Given the description of an element on the screen output the (x, y) to click on. 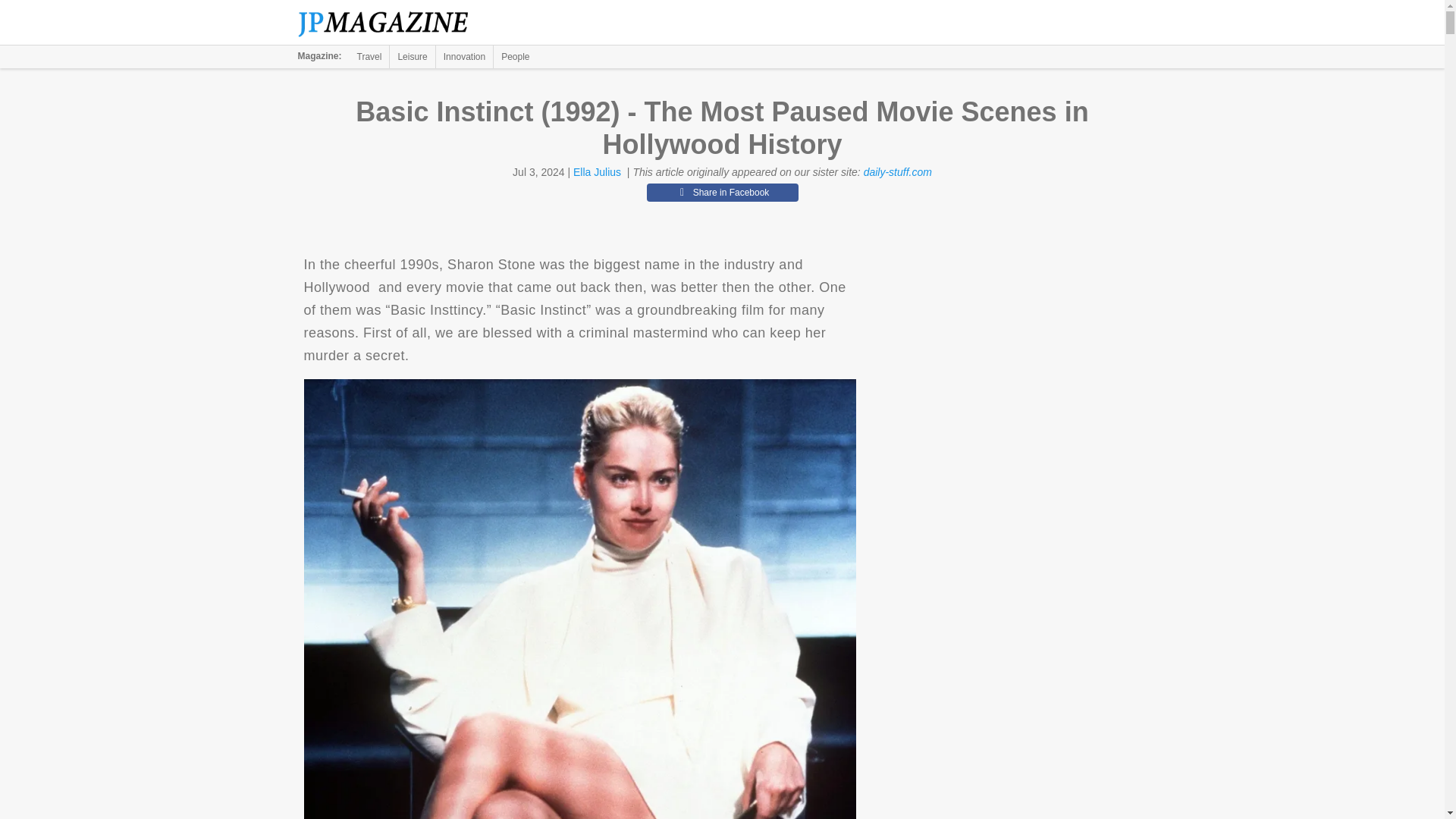
Innovation (464, 56)
Ella Julius (597, 172)
People (515, 56)
Leisure (411, 56)
Share in Facebook (721, 192)
The Jerusalem Post Magazine (391, 22)
daily-stuff.com (897, 172)
Travel (369, 56)
